Given the description of an element on the screen output the (x, y) to click on. 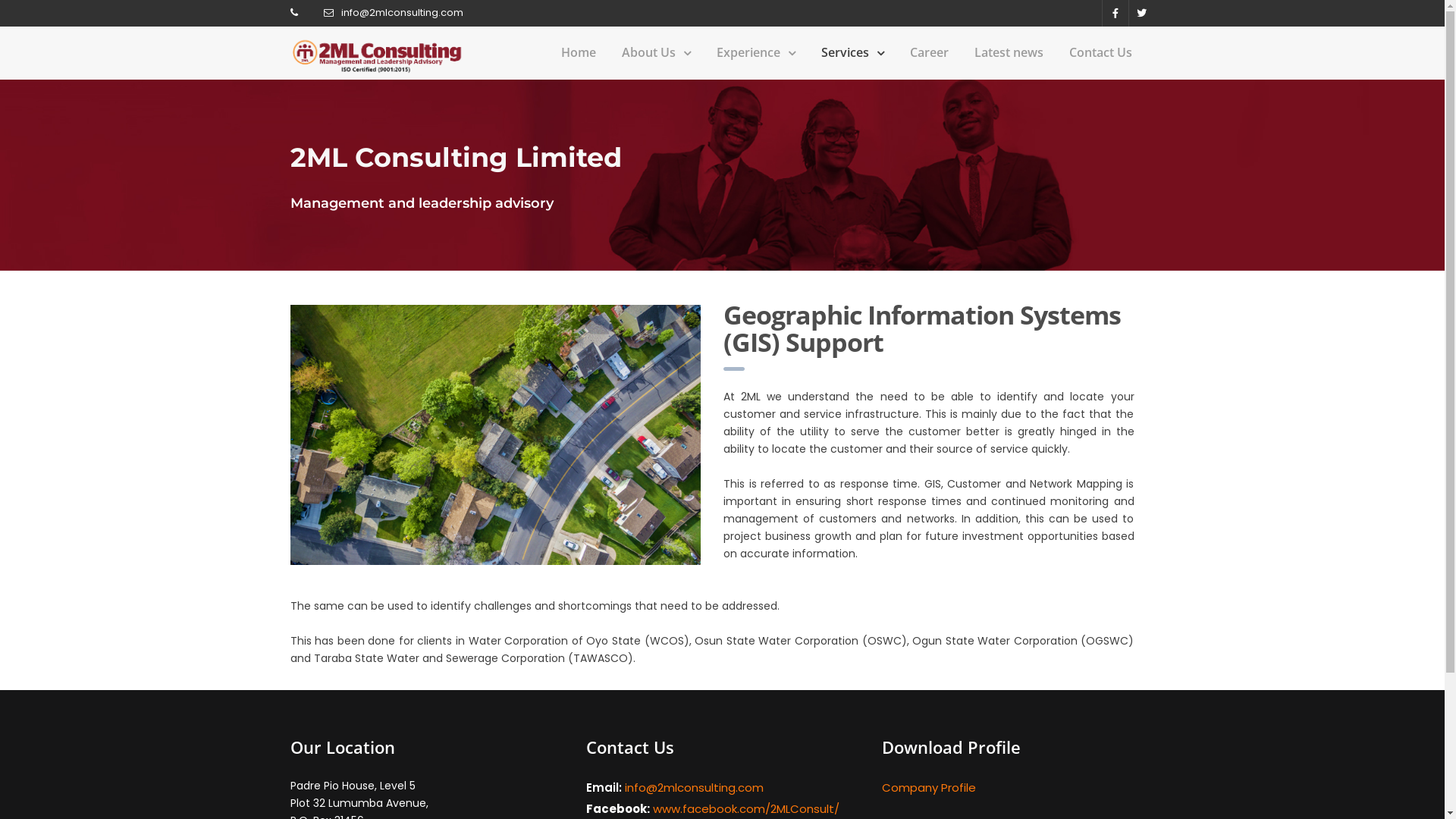
Company Profile Element type: text (928, 787)
Career Element type: text (929, 52)
Home Element type: text (578, 52)
Experience Element type: text (754, 52)
info@2mlconsulting.com Element type: text (402, 12)
info@2mlconsulting.com Element type: text (693, 787)
About Us Element type: text (655, 52)
Contact Us Element type: text (1100, 52)
Services Element type: text (851, 52)
Latest news Element type: text (1007, 52)
www.facebook.com/2MLConsult/ Element type: text (745, 808)
